Given the description of an element on the screen output the (x, y) to click on. 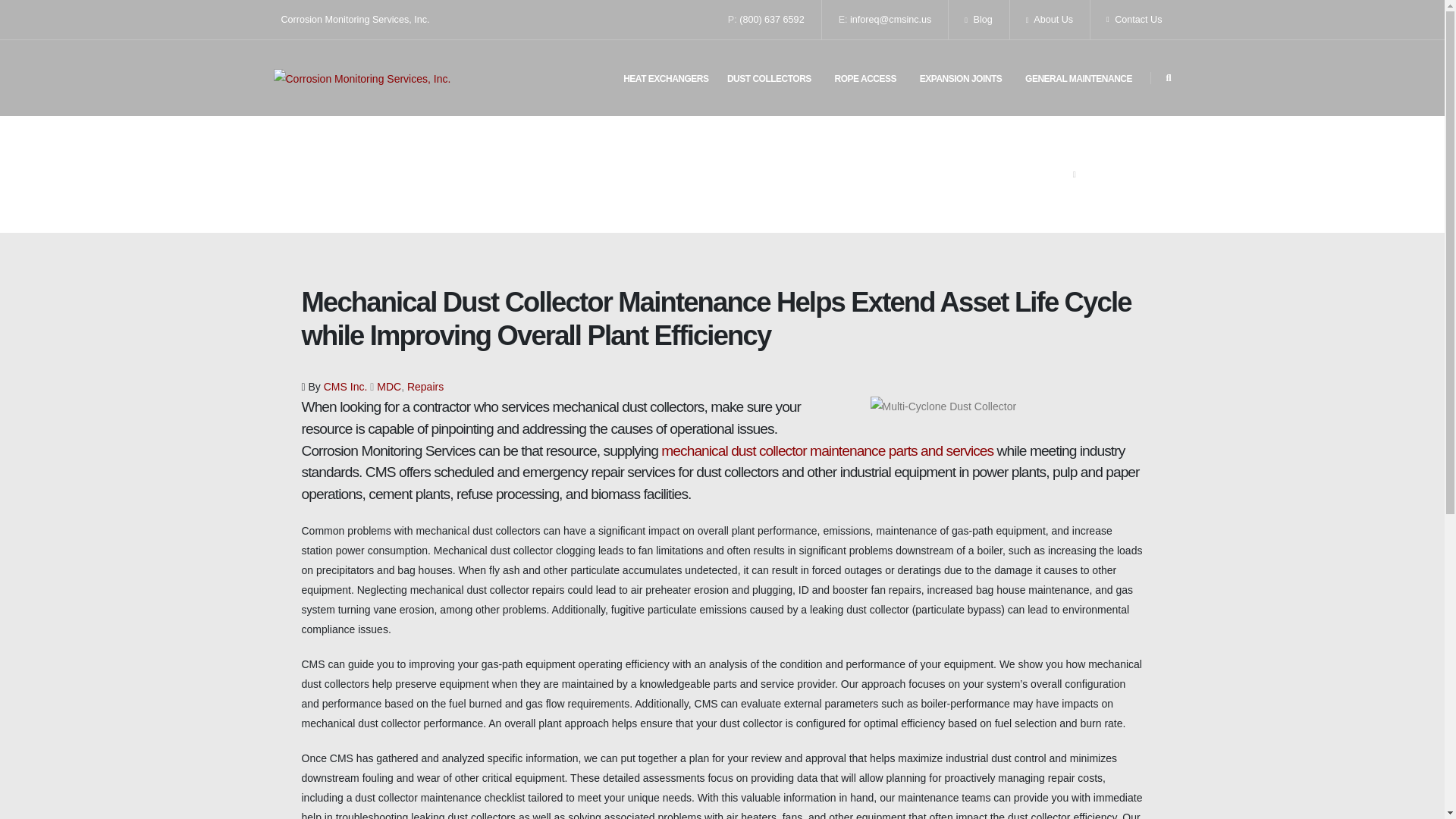
Repairs (425, 386)
CMS Inc. (345, 386)
DUST COLLECTORS (769, 78)
ROPE ACCESS (865, 78)
GENERAL MAINTENANCE (1078, 78)
About Us (1049, 19)
Mechanical Dust Collector Inspection and Repair Services (826, 450)
EXPANSION JOINTS (959, 78)
Contact Us (1130, 19)
HOME (1053, 174)
